Given the description of an element on the screen output the (x, y) to click on. 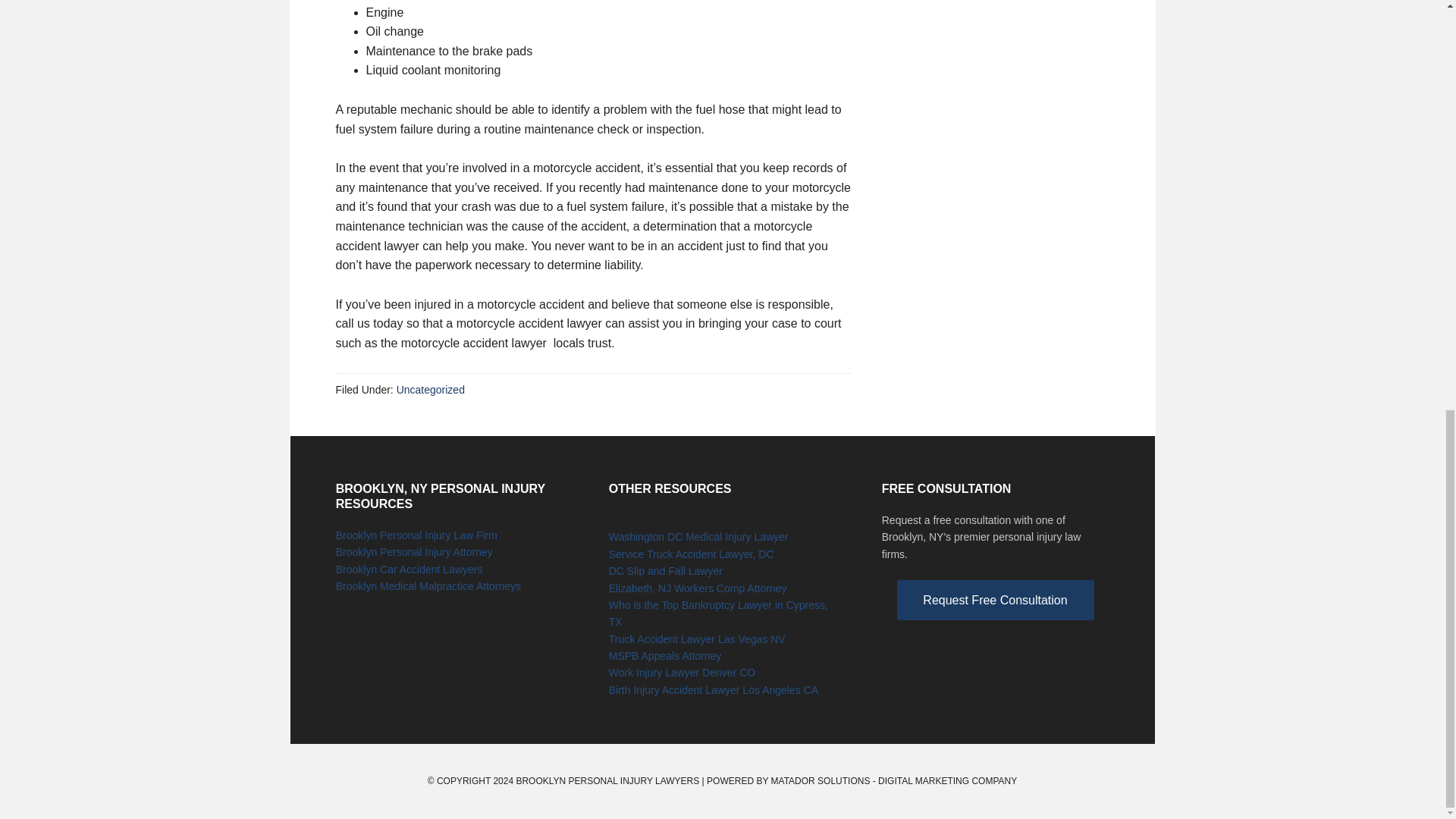
Request Free Consultation (994, 599)
MSPB Appeals Attorney (665, 655)
MATADOR SOLUTIONS - DIGITAL MARKETING COMPANY (894, 780)
Brooklyn Car Accident Lawyers (409, 569)
Birth Injury Accident Lawyer Los Angeles CA (713, 689)
Uncategorized (430, 389)
Work Injury Lawyer Denver CO (681, 672)
Service Truck Accident Lawyer, DC (691, 553)
DC Slip and Fall Lawyer (665, 571)
Truck Accident Lawyer Las Vegas NV (697, 639)
Washington DC Medical Injury Lawyer (698, 536)
Brooklyn Medical Malpractice Attorneys (428, 585)
Brooklyn Personal Injury Attorney (414, 551)
Who is the Top Bankruptcy Lawyer in Cypress, TX (718, 613)
Elizabeth, NJ Workers Comp Attorney (697, 588)
